Given the description of an element on the screen output the (x, y) to click on. 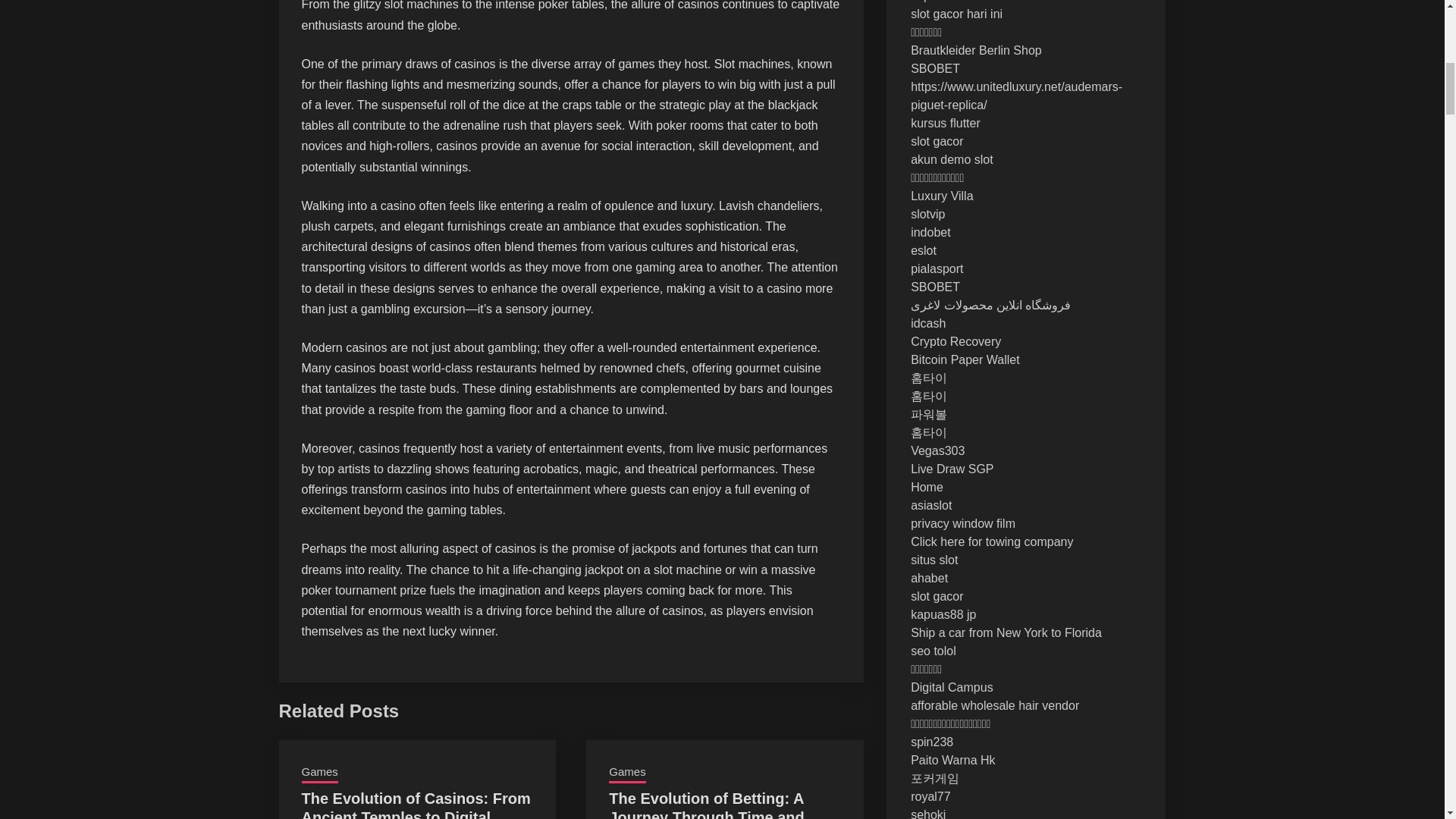
Games (626, 772)
Games (319, 772)
